Given the description of an element on the screen output the (x, y) to click on. 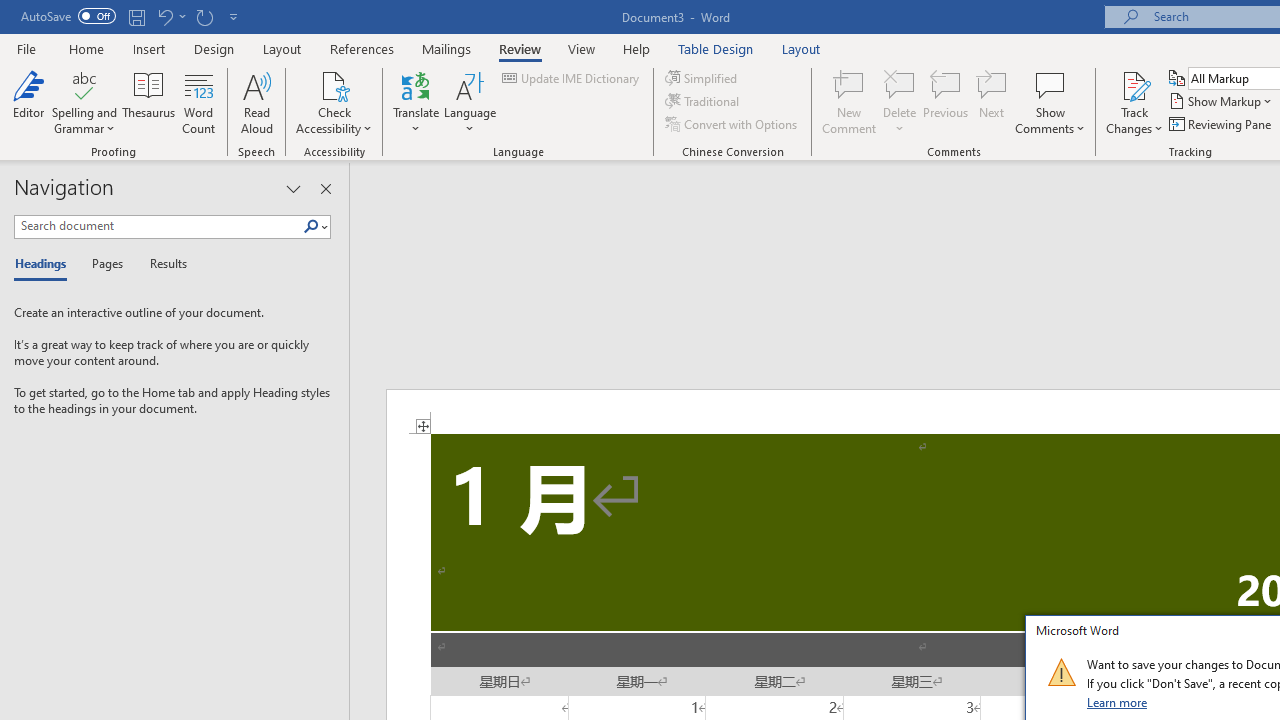
Show Comments (1050, 102)
Show Comments (1050, 84)
Delete (900, 102)
New Comment (849, 102)
Traditional (703, 101)
Undo Increase Indent (170, 15)
Update IME Dictionary... (572, 78)
